Given the description of an element on the screen output the (x, y) to click on. 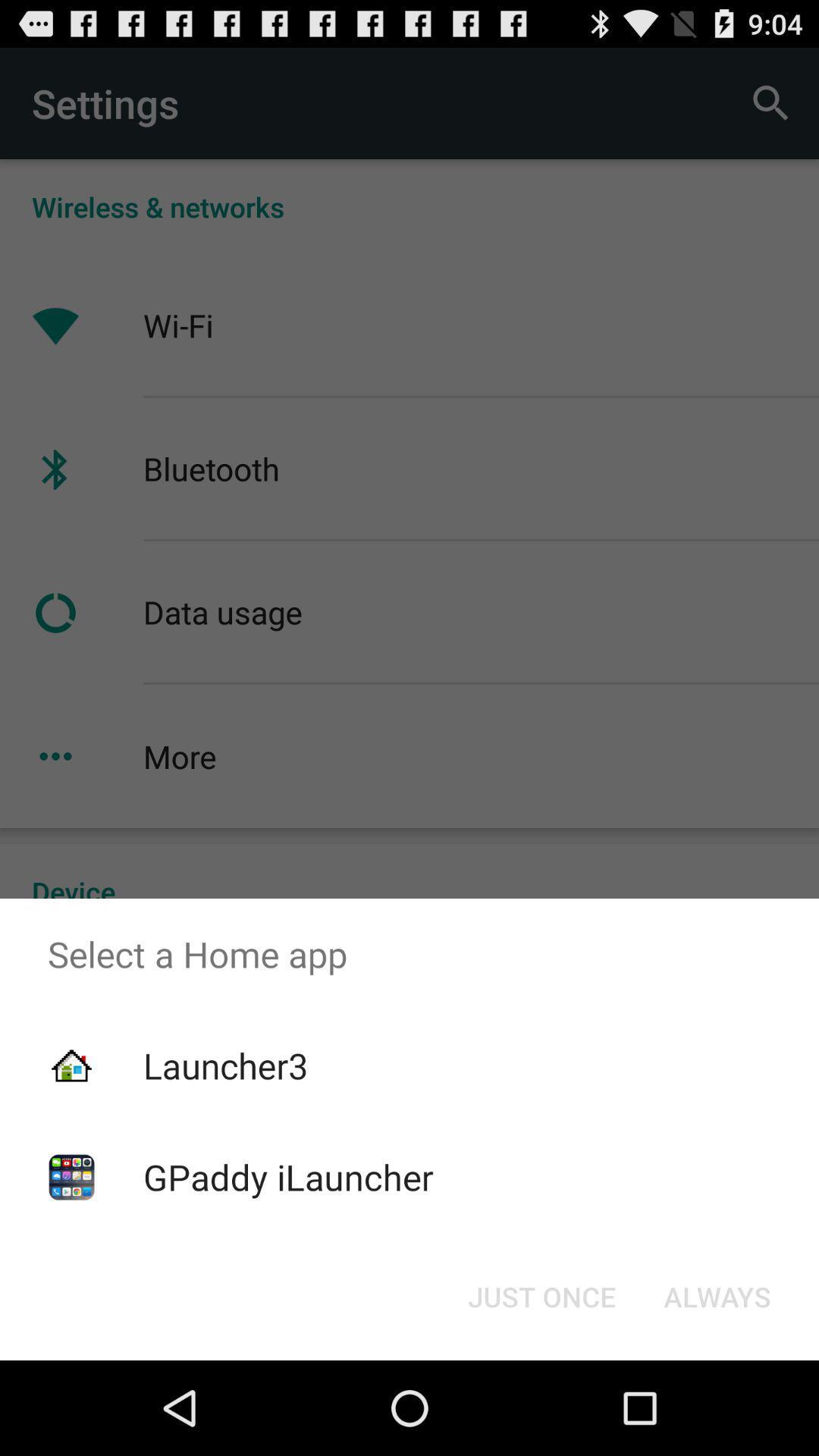
open the item to the right of the just once (717, 1296)
